Given the description of an element on the screen output the (x, y) to click on. 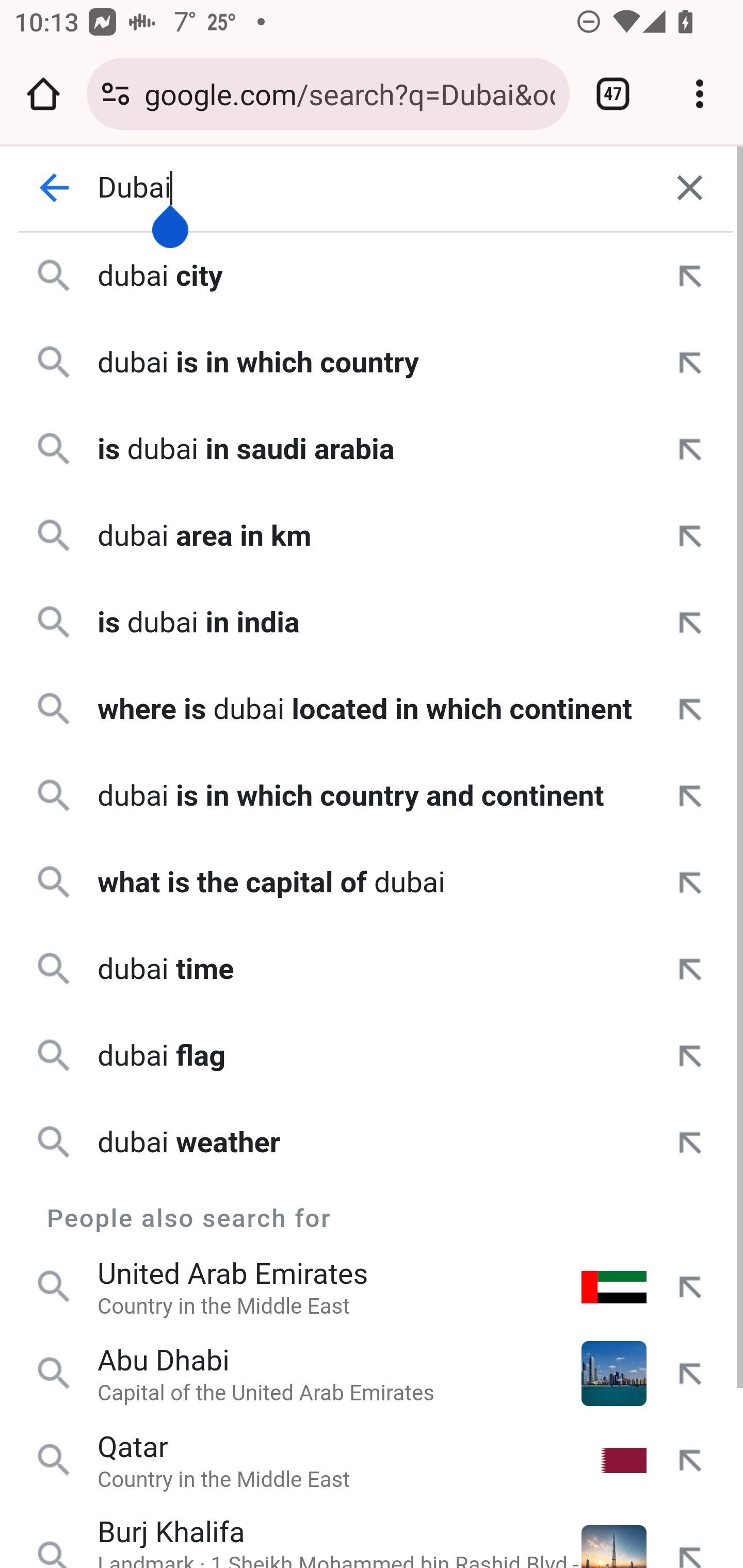
Open the home page (43, 93)
Connection is secure (115, 93)
Switch or close tabs (612, 93)
Customize and control Google Chrome (699, 93)
Back (54, 188)
Clear Search (690, 188)
Dubai (372, 188)
